Given the description of an element on the screen output the (x, y) to click on. 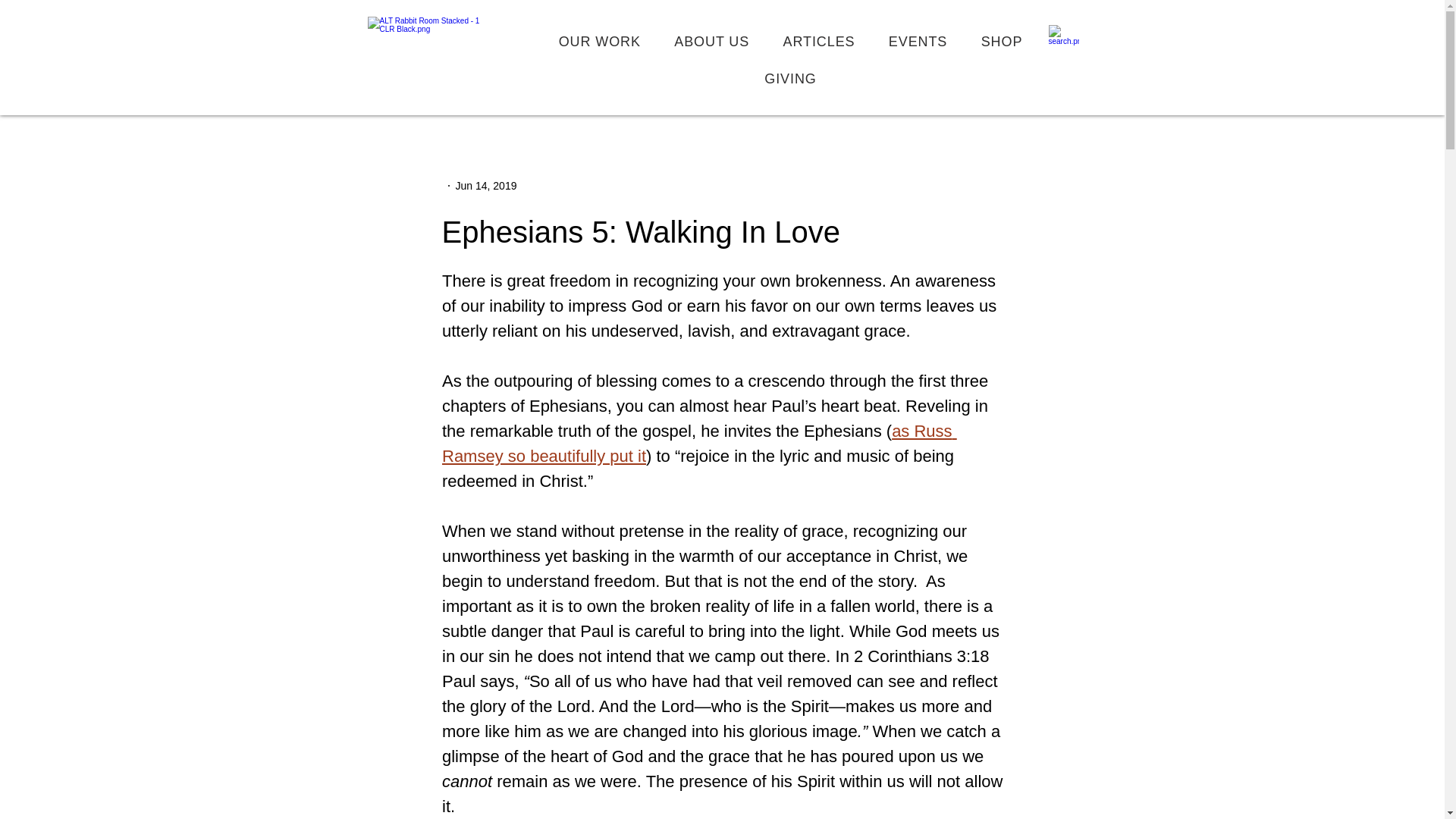
as Russ Ramsey so beautifully put it (698, 443)
Jun 14, 2019 (485, 184)
ABOUT US (711, 41)
SHOP (1000, 41)
GIVING (789, 79)
EVENTS (917, 41)
ARTICLES (817, 41)
